Given the description of an element on the screen output the (x, y) to click on. 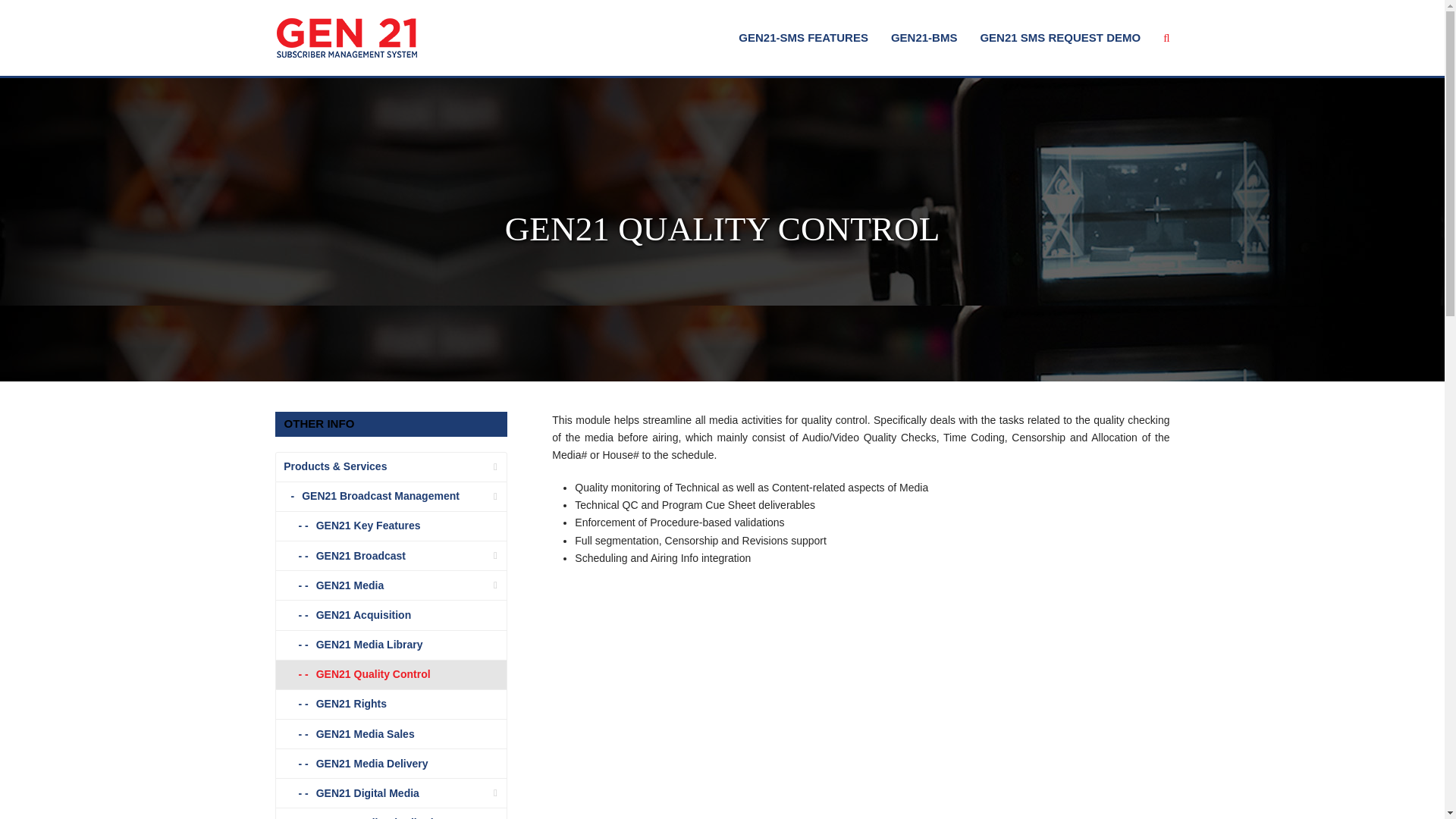
GEN21 Rights (390, 704)
GEN21 Media Delivery (390, 763)
GEN21 Broadcast Management (390, 496)
GEN21 Key Features (390, 526)
GEN21-SMS FEATURES (802, 37)
GEN21 SMS REQUEST DEMO (1059, 37)
GEN21 Acquisition (390, 614)
GEN21-BMS (924, 37)
GEN21 Media Distribution (390, 813)
GEN21 Quality Control (390, 675)
GEN21 Media Library (390, 645)
GEN21 Media (390, 585)
GEN21 Broadcast (390, 555)
GEN21 Digital Media (390, 793)
GEN21 Media Sales (390, 734)
